Given the description of an element on the screen output the (x, y) to click on. 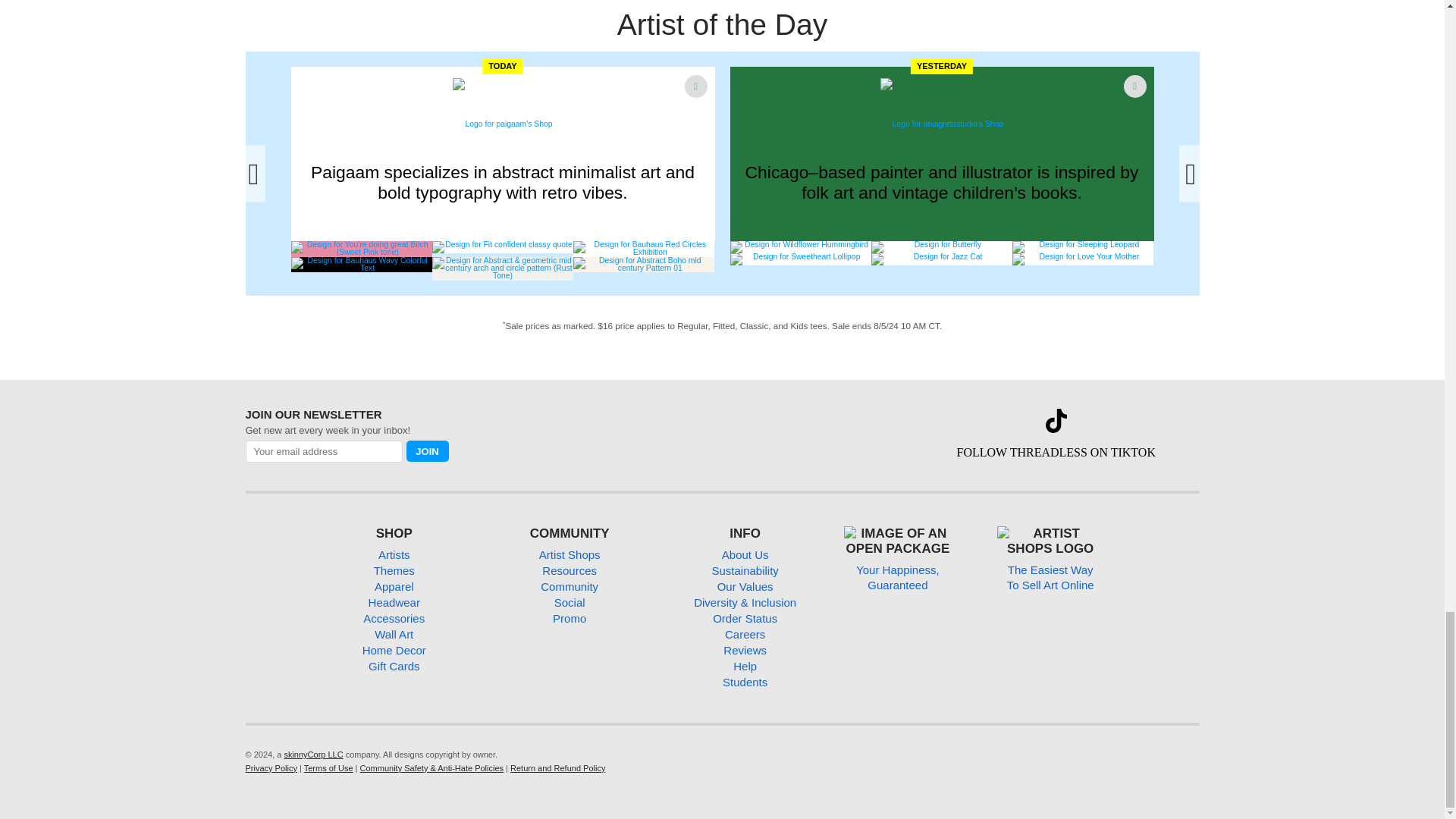
Join (427, 450)
on (248, 466)
